Given the description of an element on the screen output the (x, y) to click on. 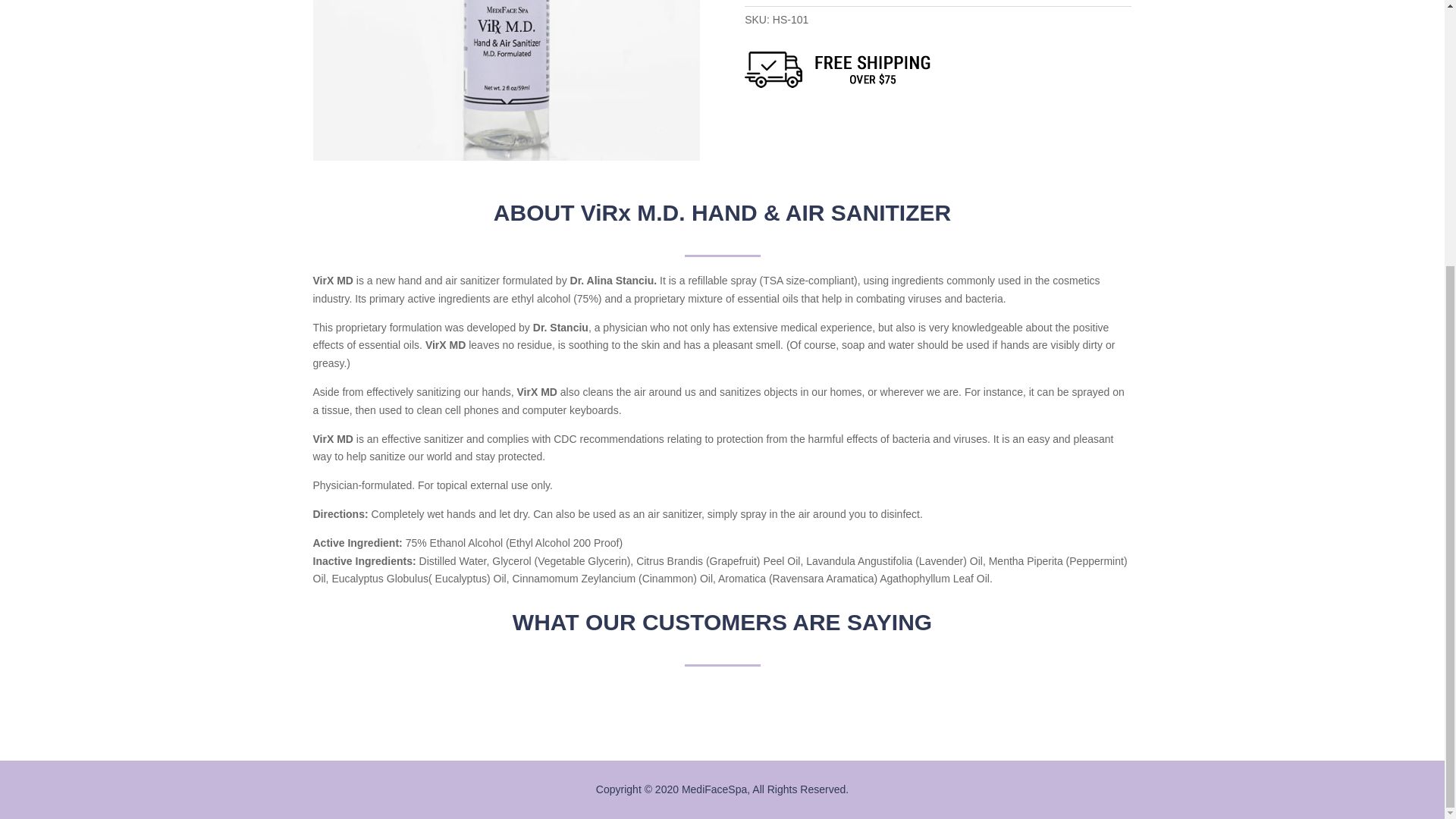
hand-sanitizer (505, 80)
